Given the description of an element on the screen output the (x, y) to click on. 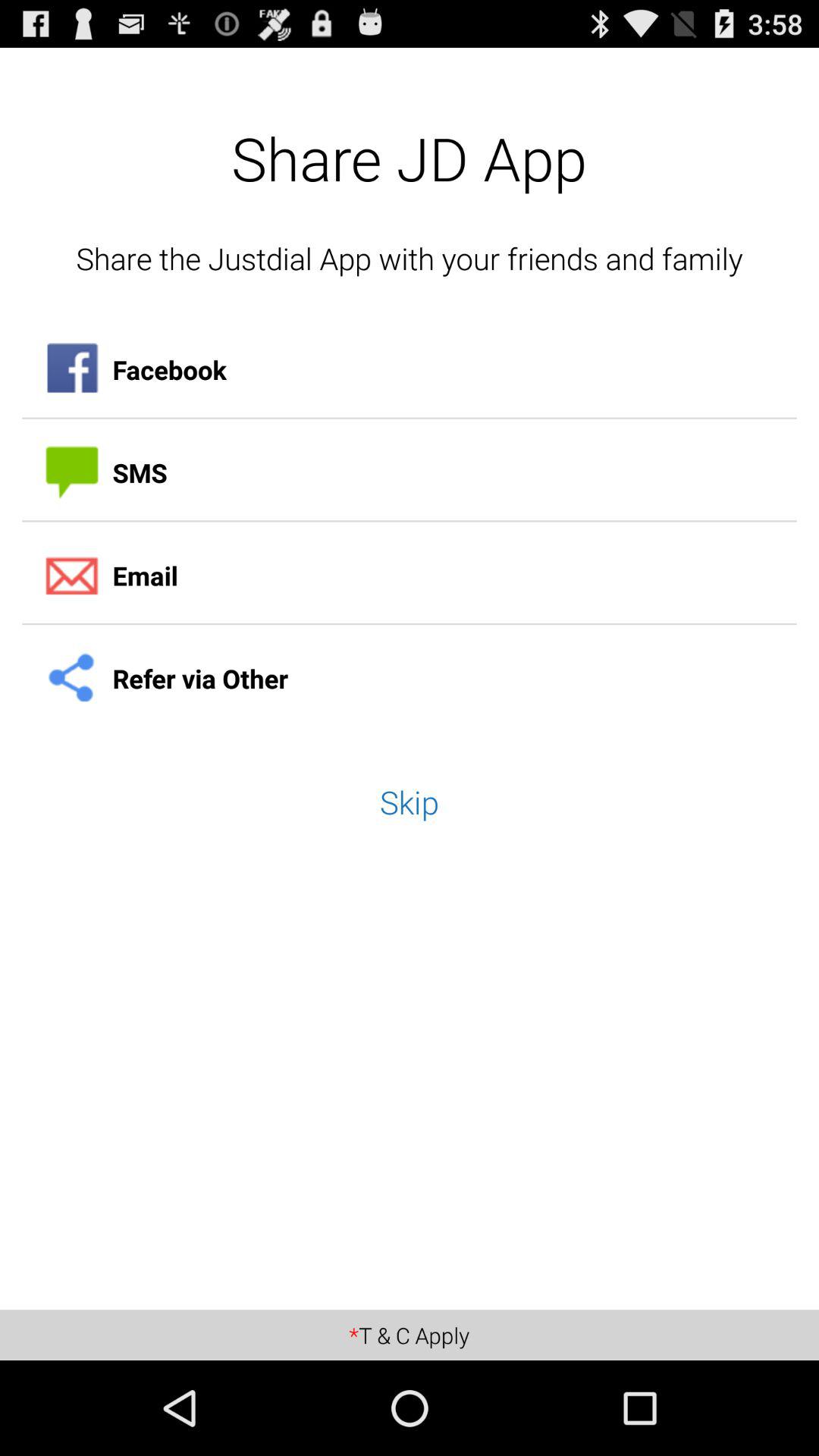
flip until the email (409, 575)
